Given the description of an element on the screen output the (x, y) to click on. 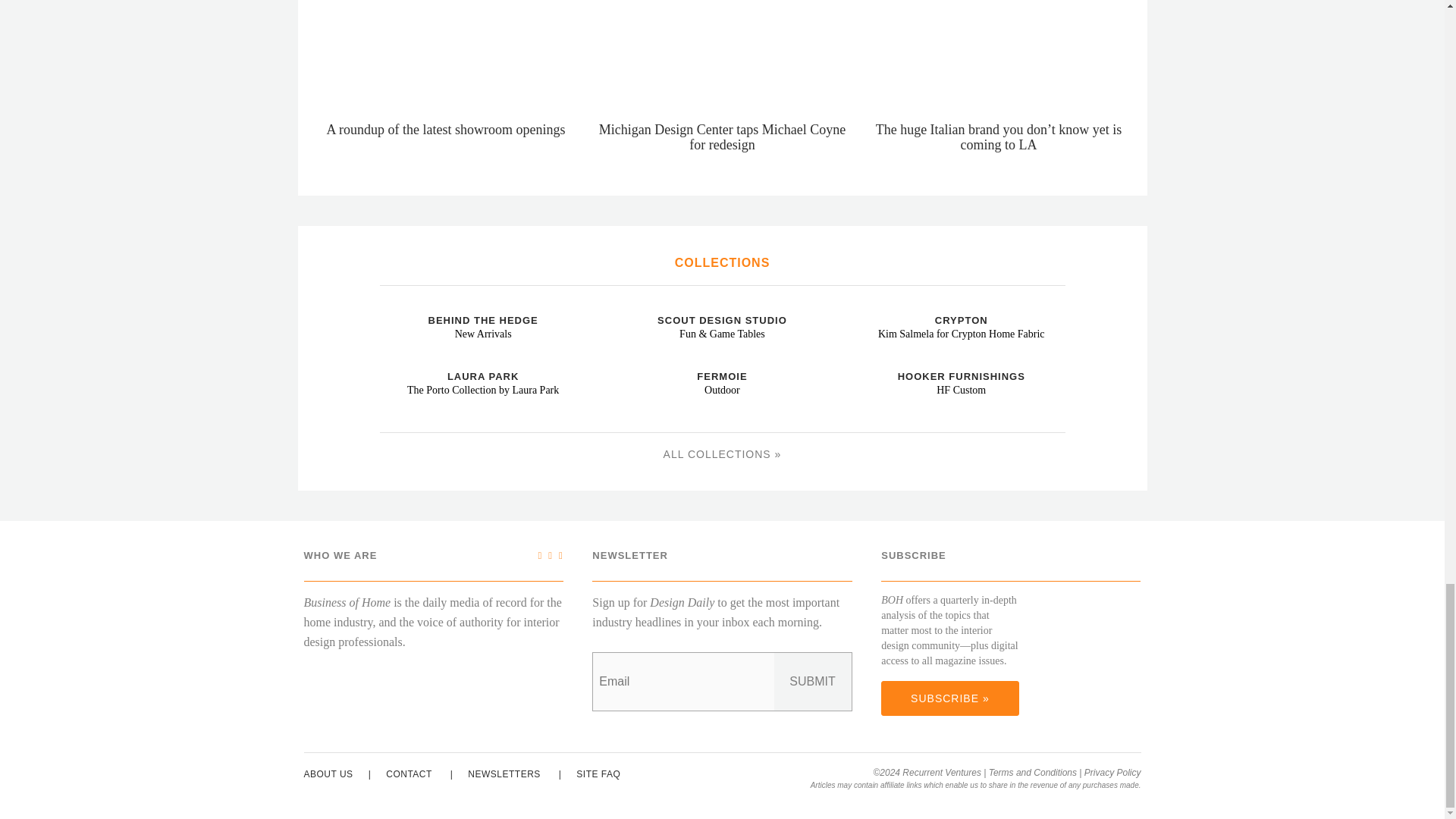
Kim Salmela for Crypton Home Fabric (863, 307)
